Given the description of an element on the screen output the (x, y) to click on. 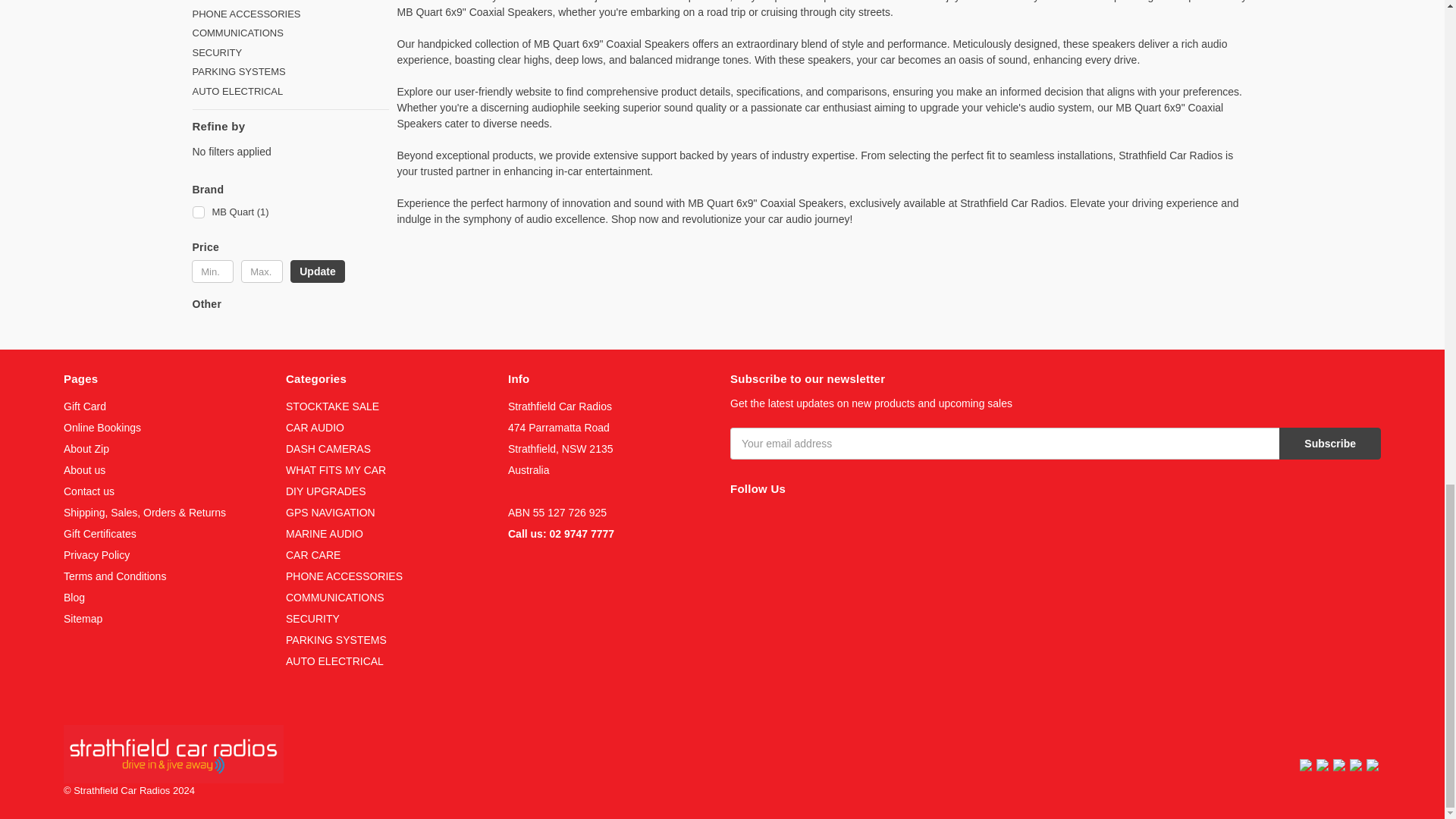
Subscribe (1329, 443)
